Given the description of an element on the screen output the (x, y) to click on. 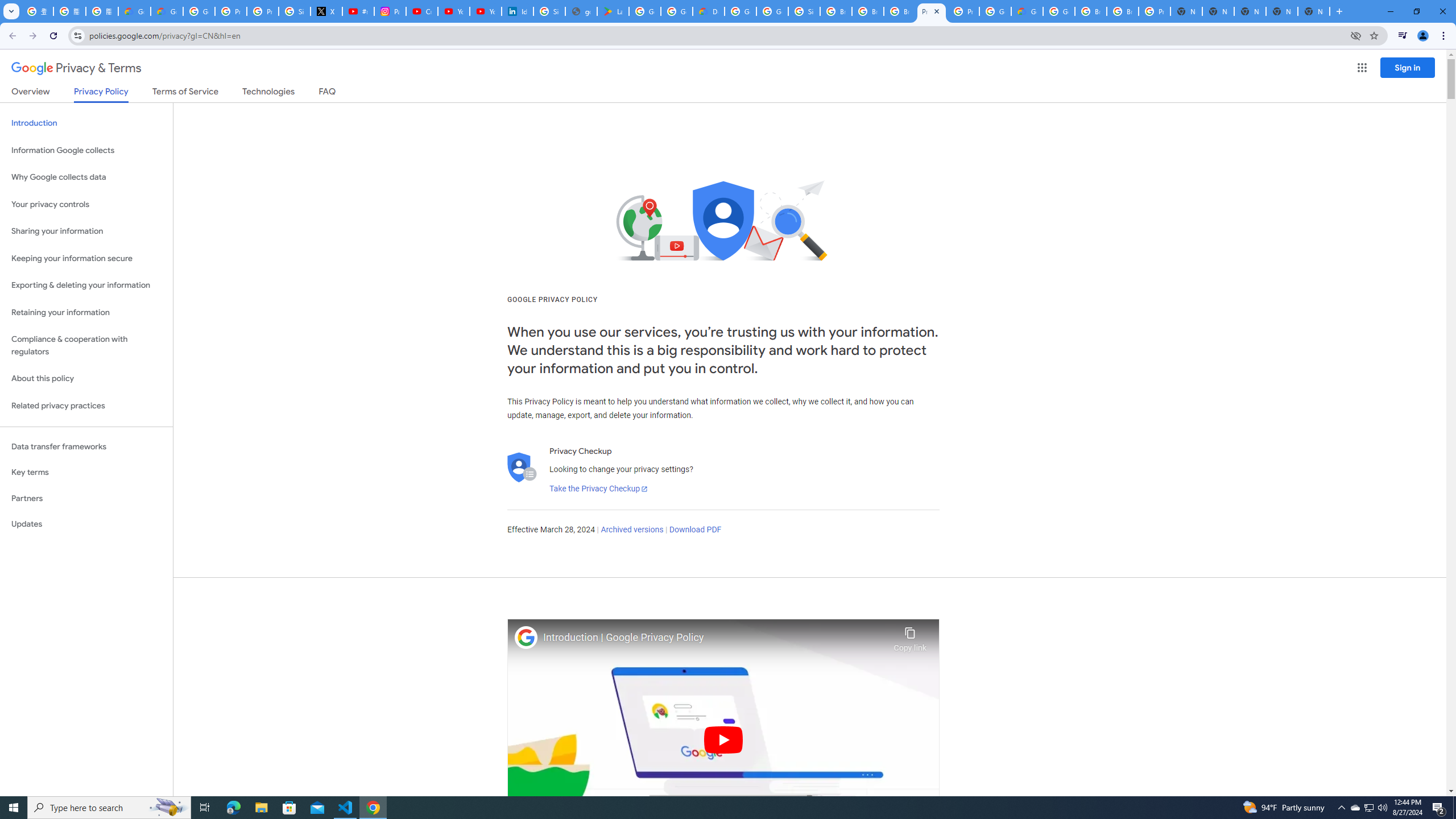
Control your music, videos, and more (1402, 35)
Browse Chrome as a guest - Computer - Google Chrome Help (868, 11)
Google Cloud Platform (1059, 11)
FAQ (327, 93)
Information Google collects (86, 150)
Privacy & Terms (76, 68)
New Tab (1185, 11)
YouTube Culture & Trends - YouTube Top 10, 2021 (485, 11)
Overview (30, 93)
